Given the description of an element on the screen output the (x, y) to click on. 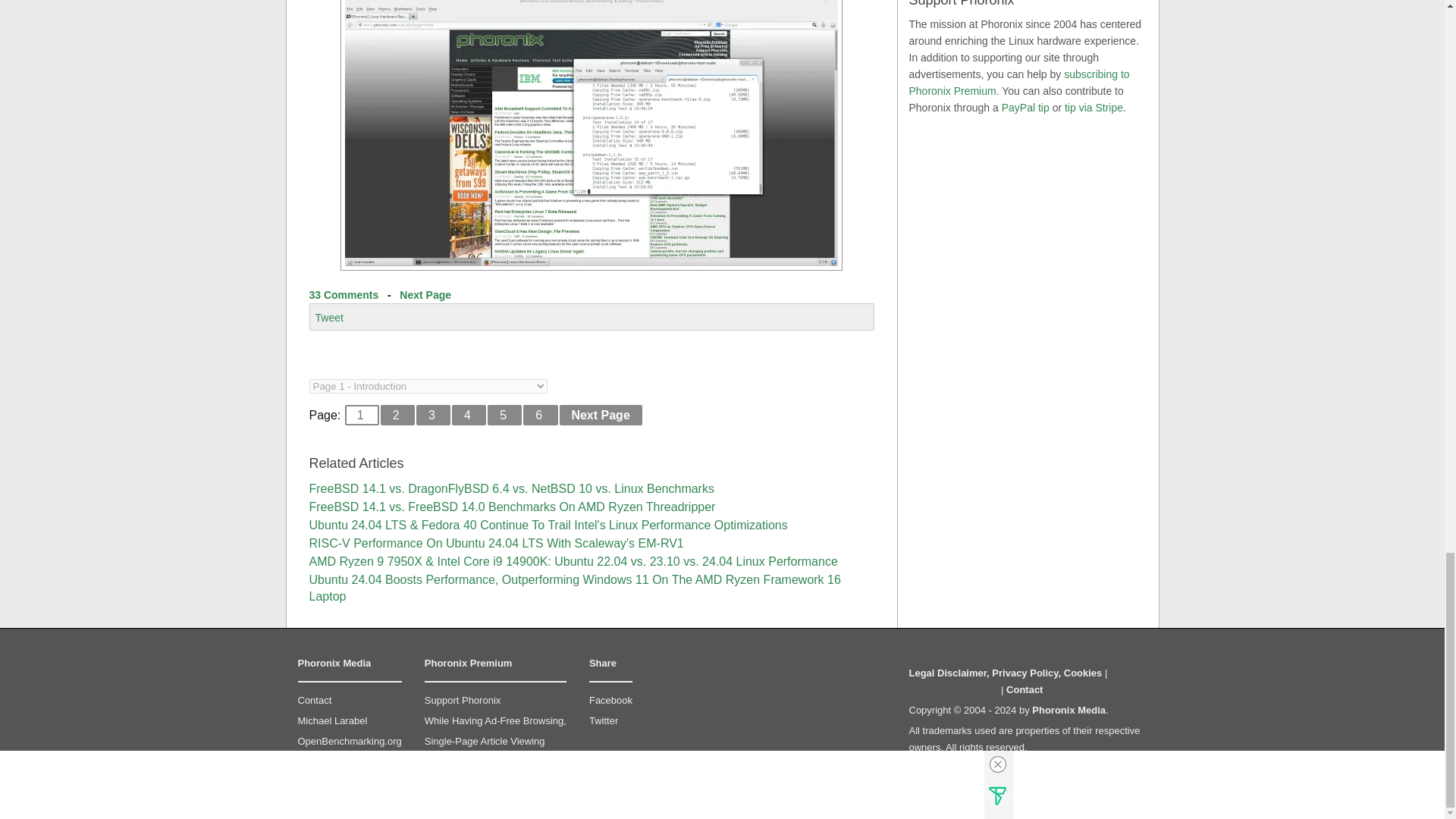
Go To Next Page (600, 414)
Go To Next Page (424, 295)
33 Comments (343, 295)
